Given the description of an element on the screen output the (x, y) to click on. 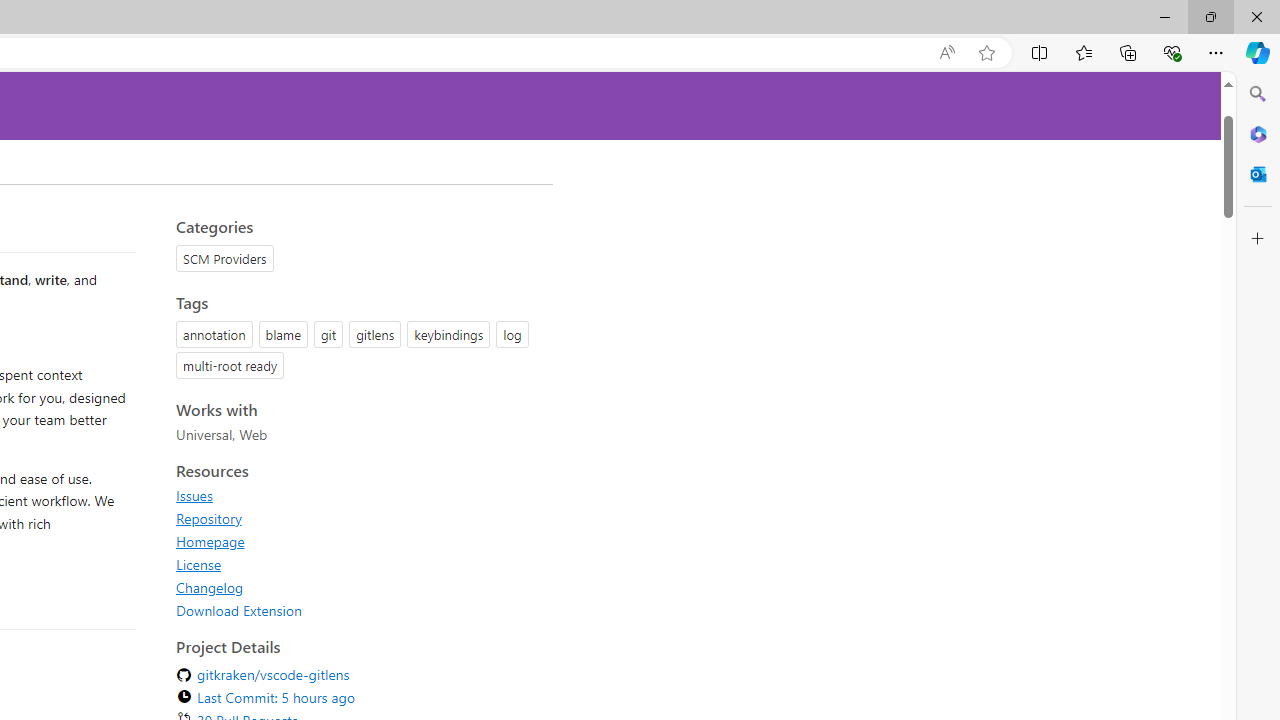
Repository (208, 518)
License (358, 564)
Repository (358, 518)
